Given the description of an element on the screen output the (x, y) to click on. 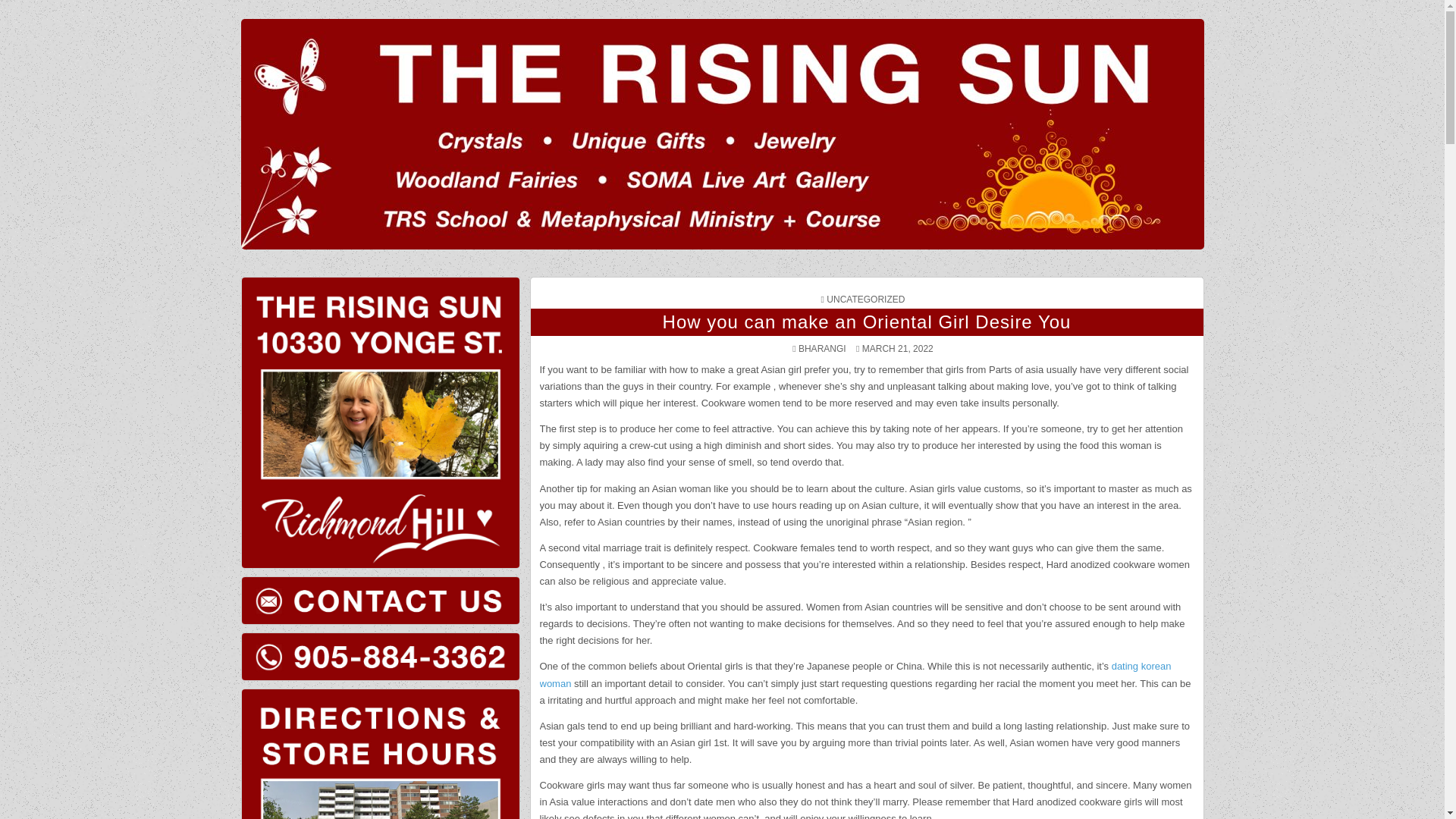
UNCATEGORIZED (865, 299)
BHARANGI (821, 348)
dating korean woman (856, 674)
How you can make an Oriental Girl Desire You (866, 322)
